Given the description of an element on the screen output the (x, y) to click on. 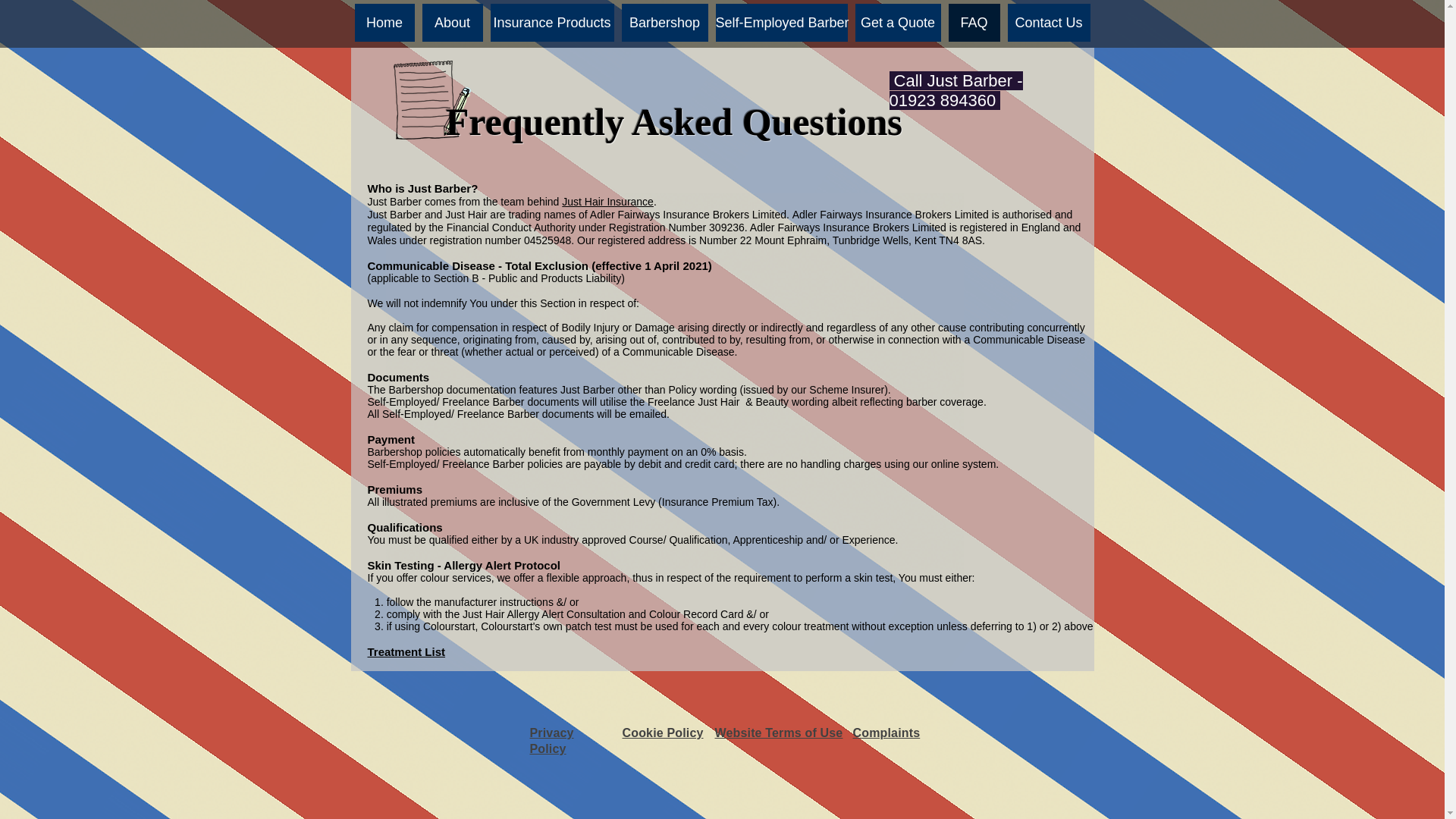
Contact Us (1048, 22)
Barbershop (664, 22)
Get a Quote (898, 22)
FAQ (972, 22)
Self-Employed Barber (781, 22)
Privacy Policy (551, 740)
Home (384, 22)
Just Hair Insurance (607, 201)
Insurance Products (550, 22)
Treatment List (405, 651)
